Given the description of an element on the screen output the (x, y) to click on. 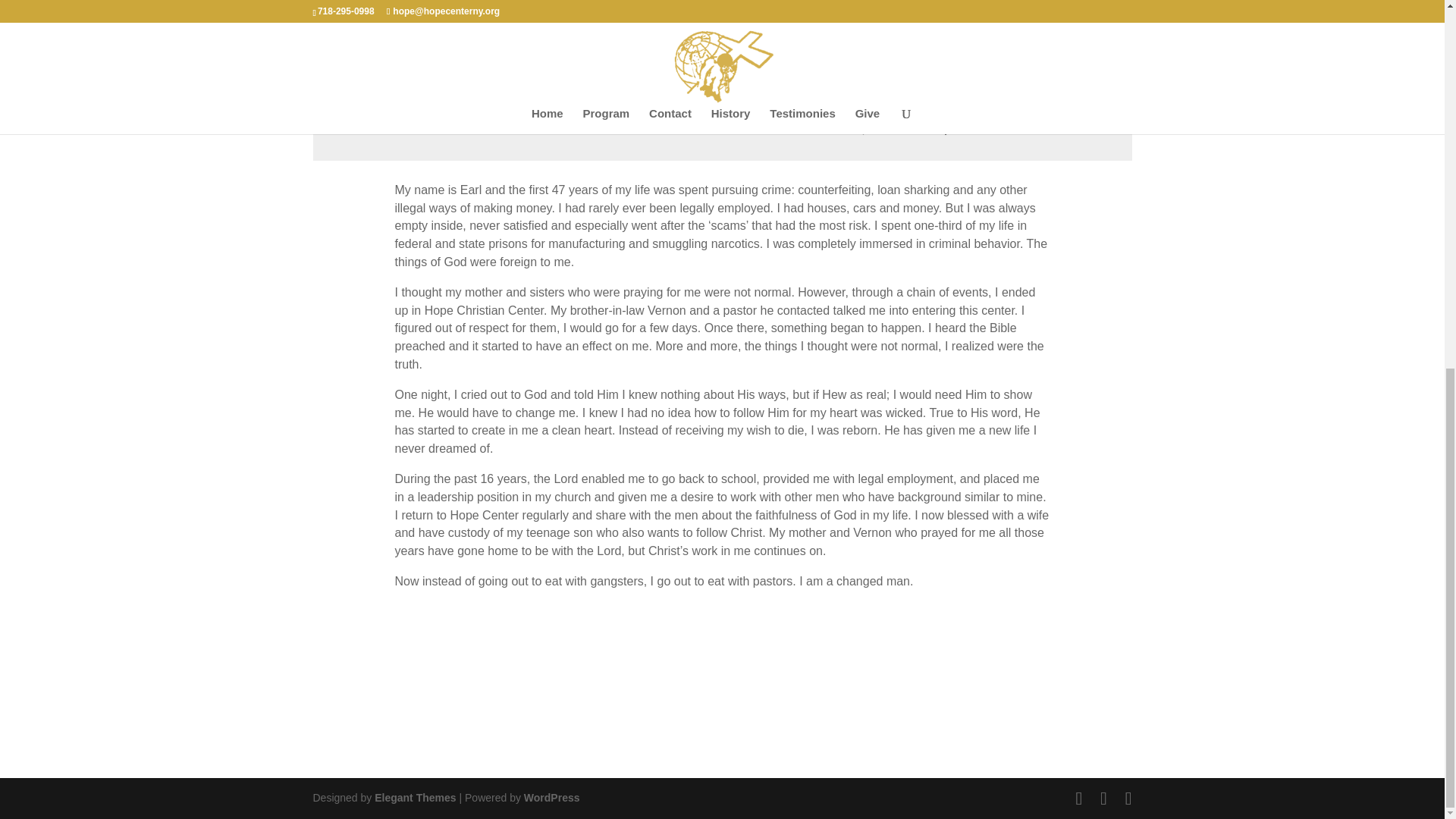
Premium WordPress Themes (414, 797)
WordPress (551, 797)
Elegant Themes (414, 797)
